Given the description of an element on the screen output the (x, y) to click on. 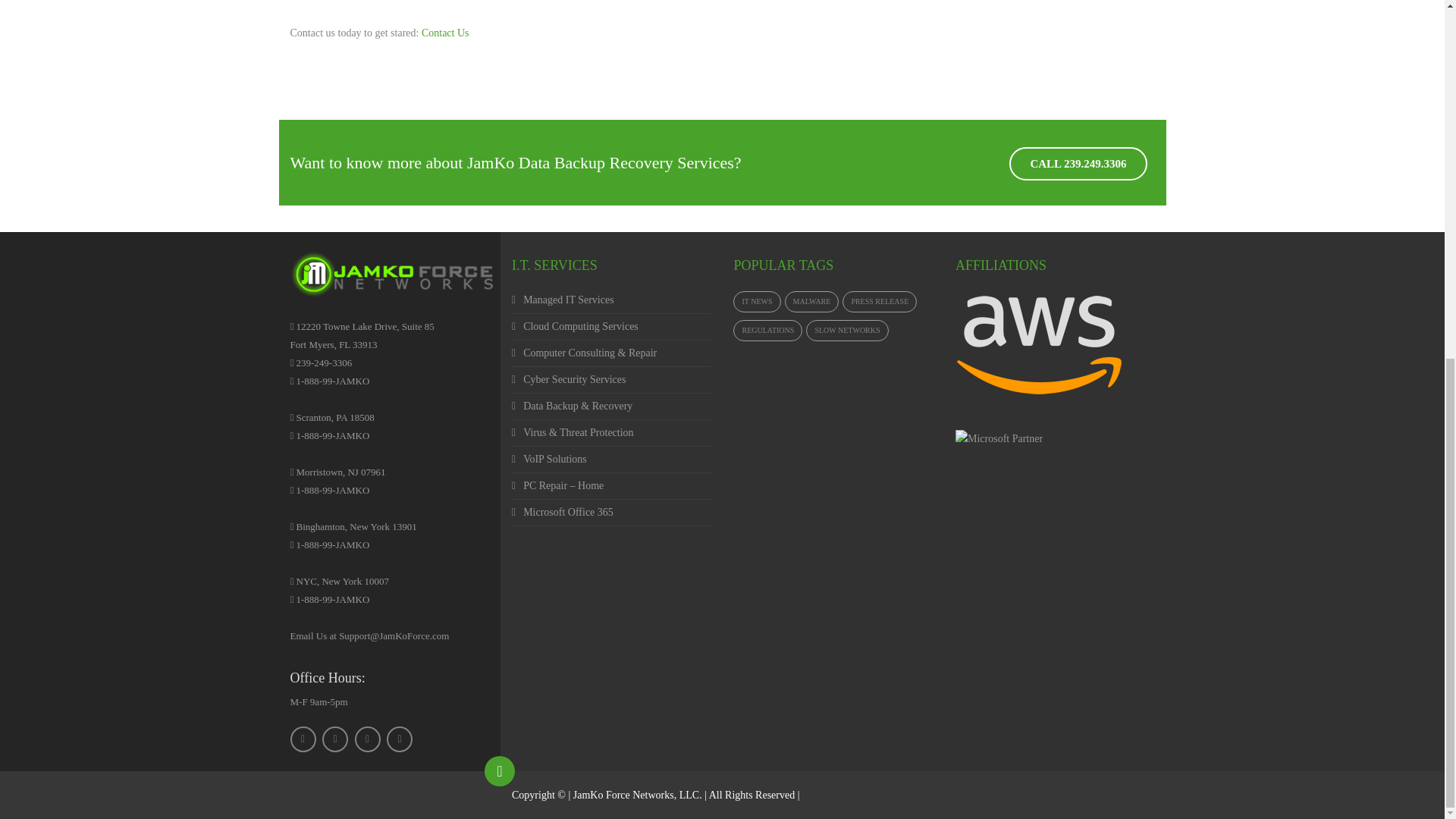
Facebook (302, 739)
Email (399, 739)
LinkedIn (367, 739)
Back to top (499, 770)
Twitter (334, 739)
